Given the description of an element on the screen output the (x, y) to click on. 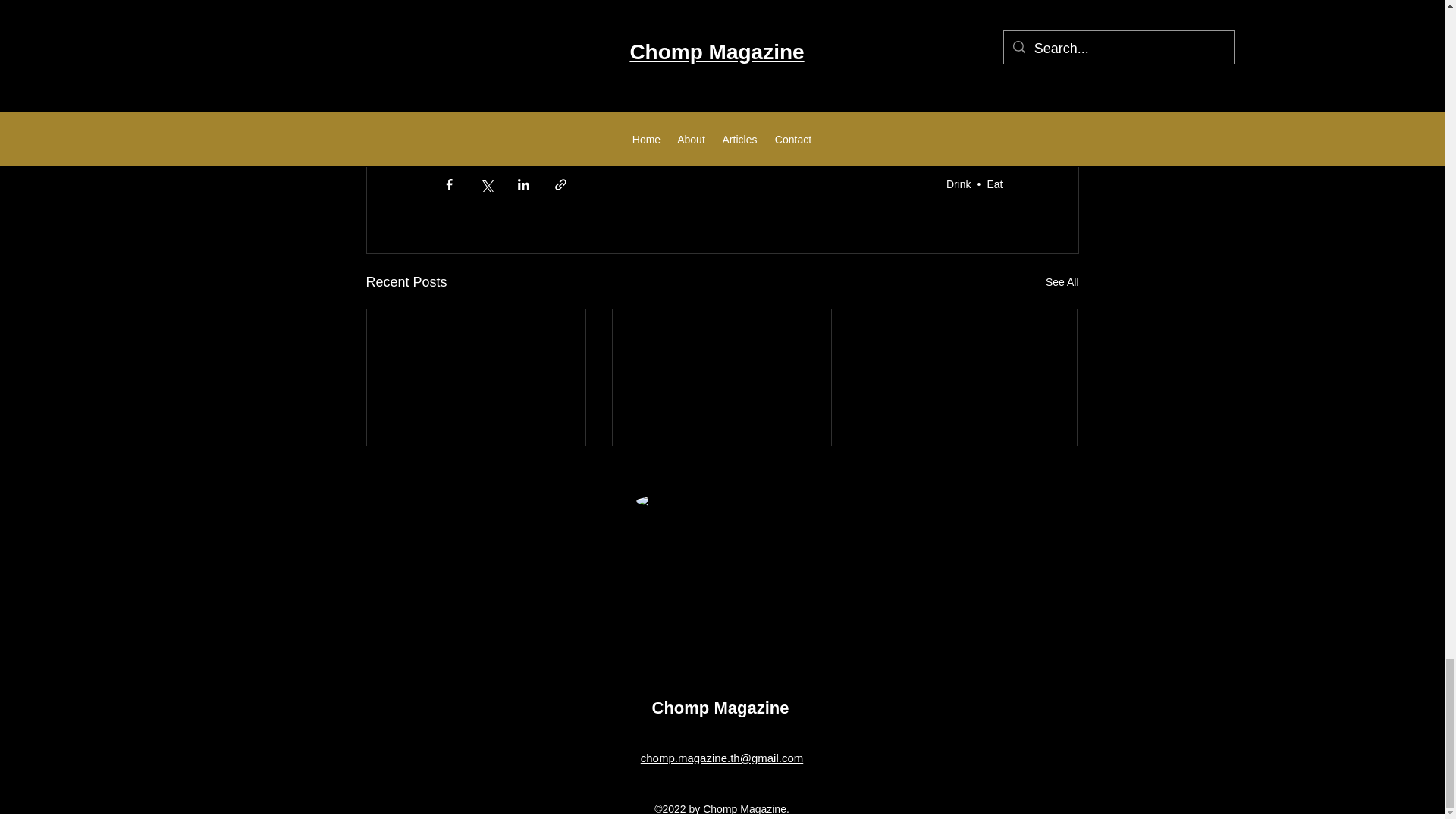
See All (1061, 282)
Eat (995, 184)
Drink (958, 184)
